Given the description of an element on the screen output the (x, y) to click on. 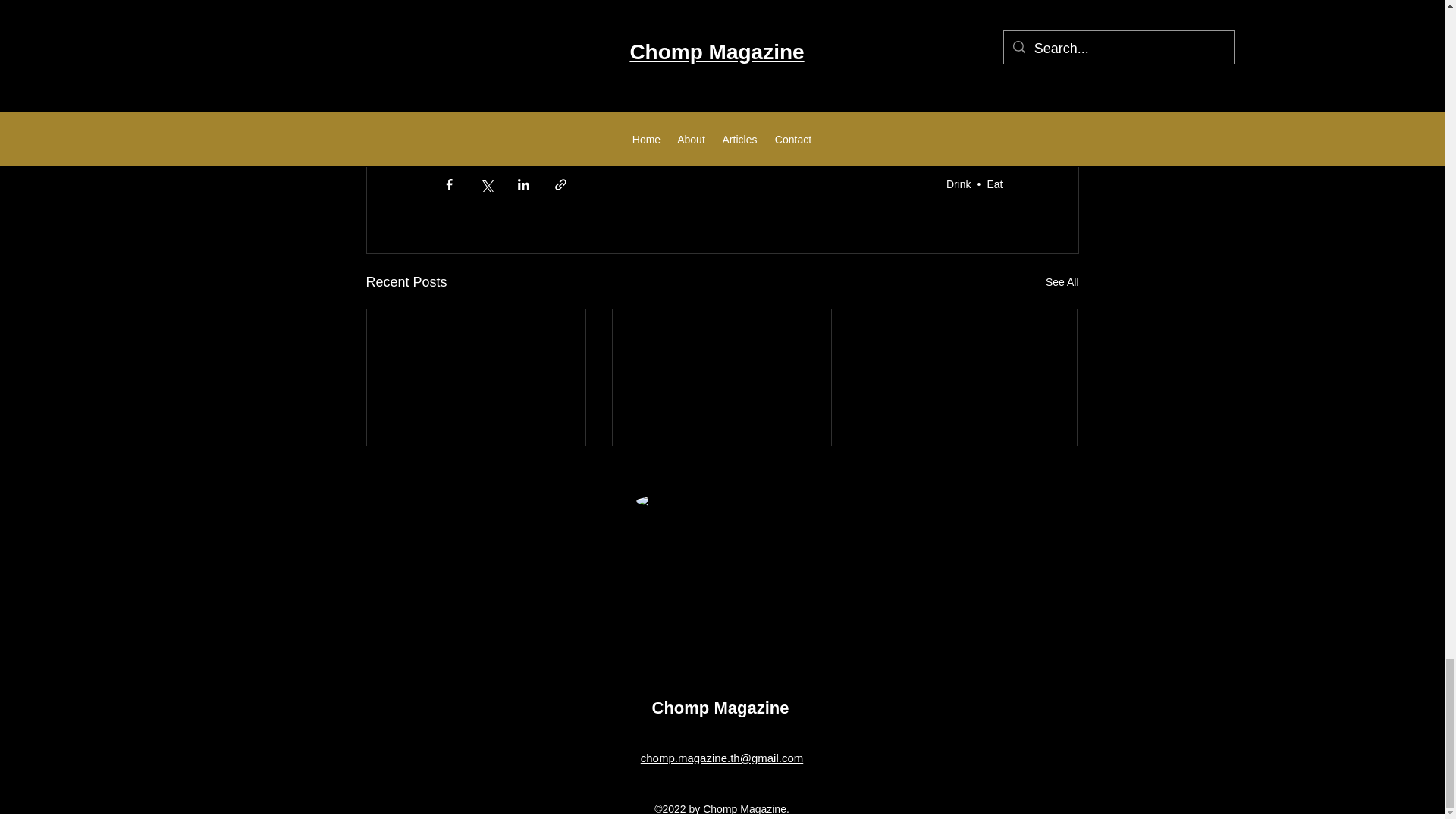
See All (1061, 282)
Eat (995, 184)
Drink (958, 184)
